Given the description of an element on the screen output the (x, y) to click on. 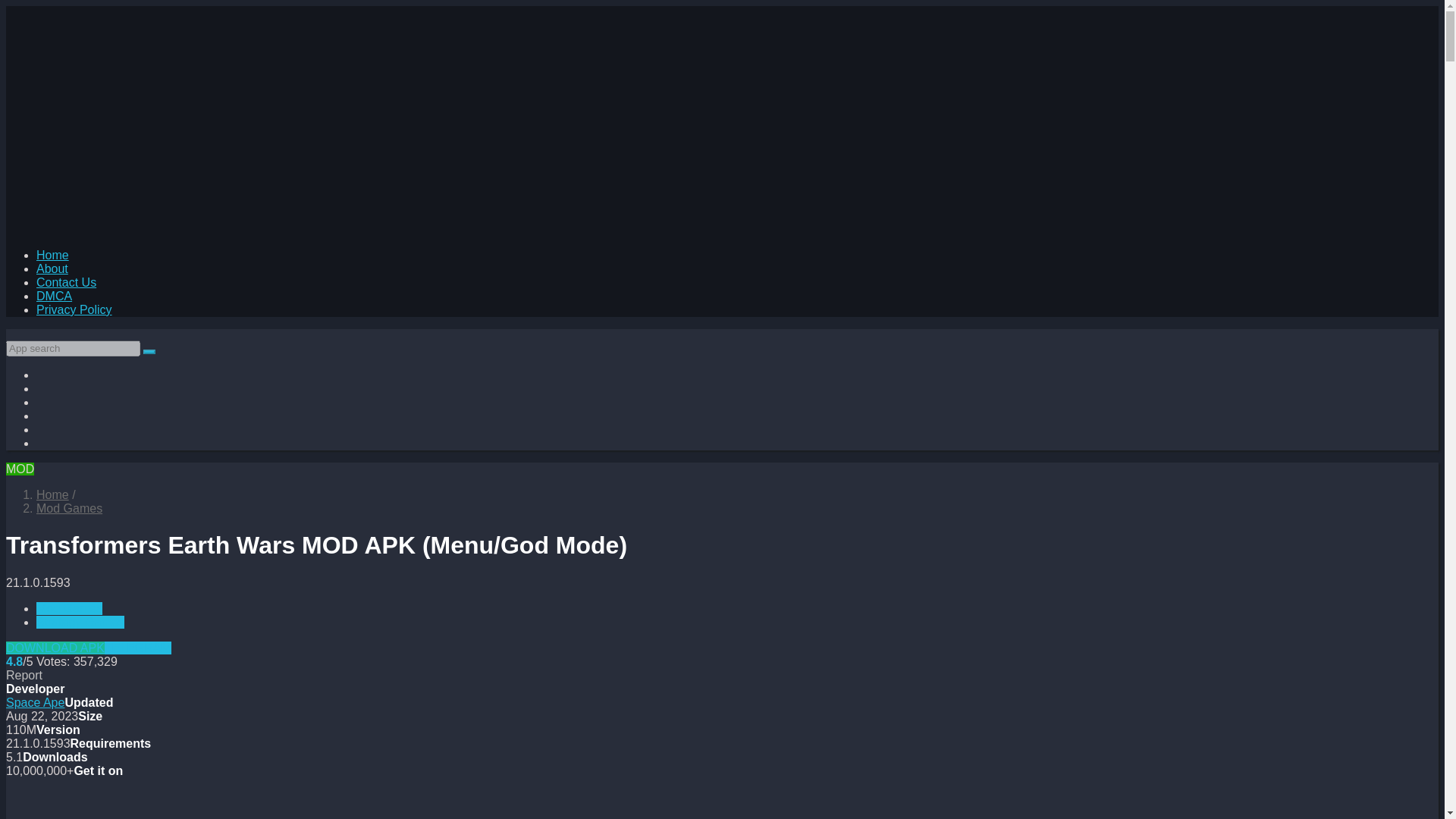
About (52, 268)
DOWNLOAD APK (54, 647)
VidsLoader (52, 494)
DOWNLOAD APK (54, 647)
TELEGRAM (137, 647)
Mod Games (68, 508)
App search (148, 351)
Mod Games (68, 608)
Strategy Games (79, 621)
Privacy Policy (74, 309)
Home (52, 254)
Home (52, 494)
Telegram (137, 647)
Space Ape (34, 702)
DMCA (53, 295)
